Given the description of an element on the screen output the (x, y) to click on. 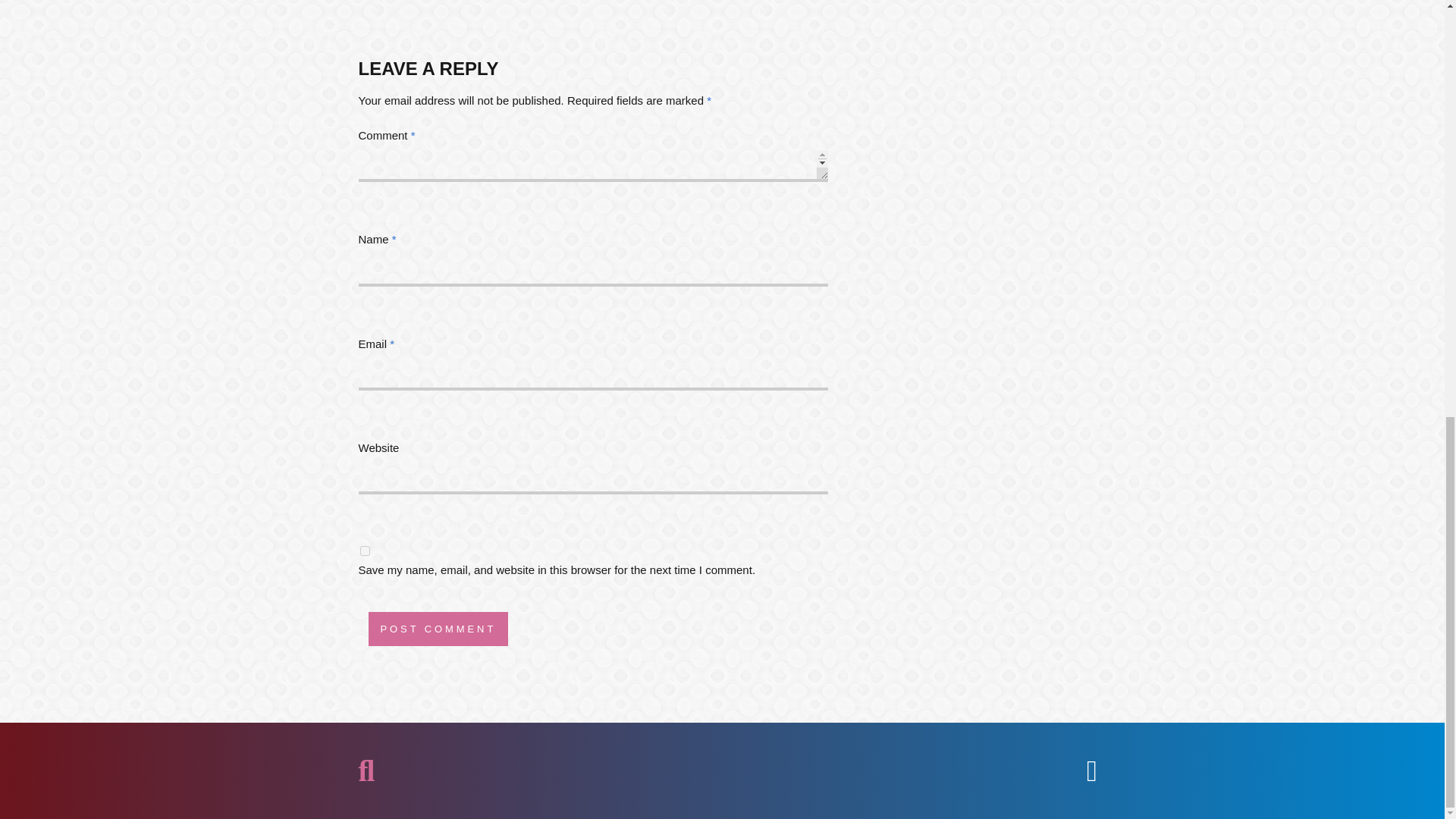
Post Comment (438, 628)
Post Comment (438, 628)
yes (364, 551)
